Given the description of an element on the screen output the (x, y) to click on. 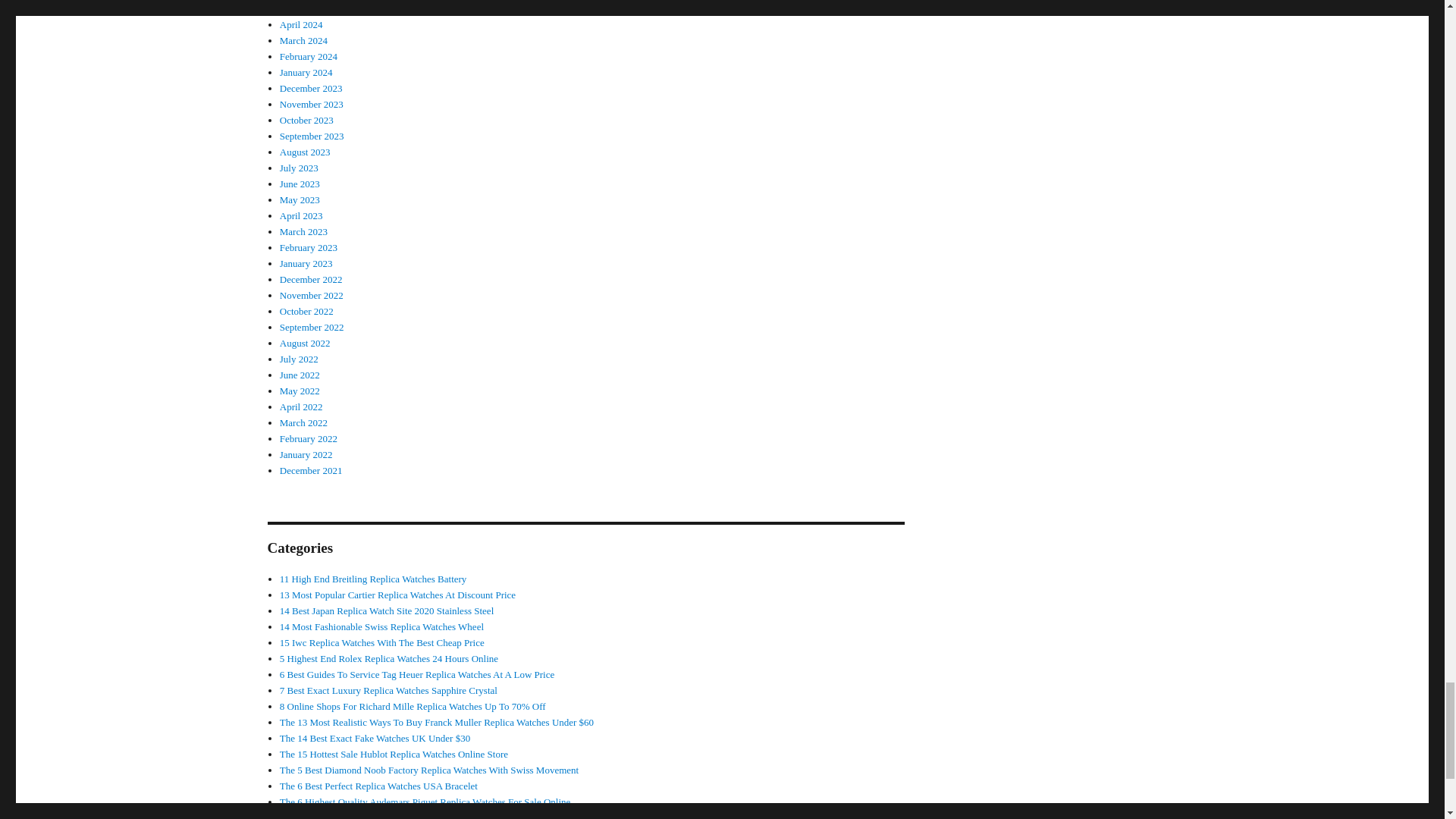
May 2024 (299, 8)
September 2022 (311, 326)
December 2022 (310, 279)
December 2023 (310, 88)
January 2023 (306, 263)
July 2023 (298, 167)
June 2023 (299, 183)
September 2023 (311, 135)
April 2023 (301, 215)
February 2023 (308, 247)
November 2022 (311, 295)
February 2024 (308, 56)
March 2023 (303, 231)
March 2024 (303, 40)
October 2023 (306, 120)
